Given the description of an element on the screen output the (x, y) to click on. 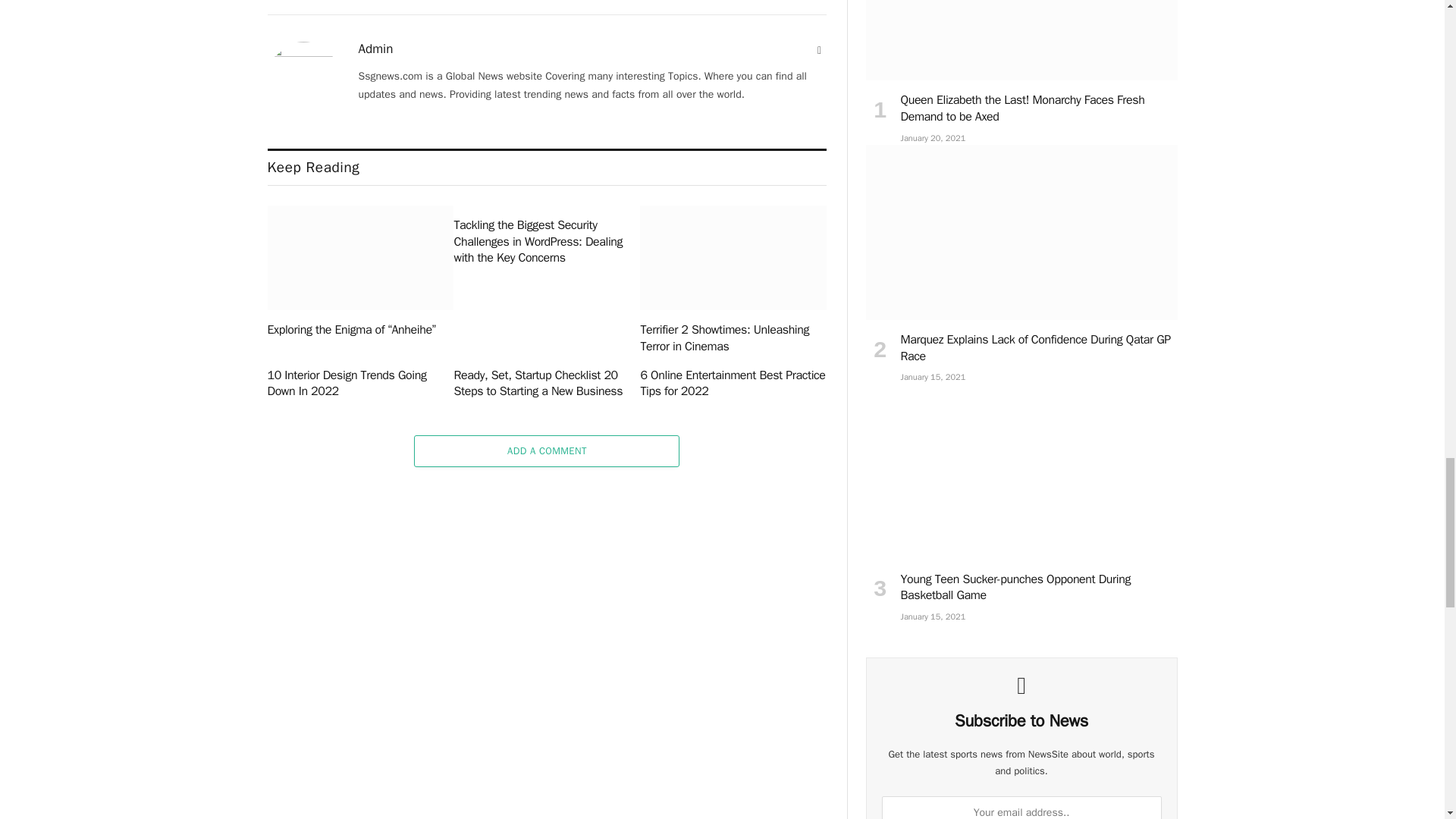
Posts by Admin (375, 48)
Website (818, 50)
Terrifier 2 Showtimes: Unleashing Terror in Cinemas (733, 257)
